Given the description of an element on the screen output the (x, y) to click on. 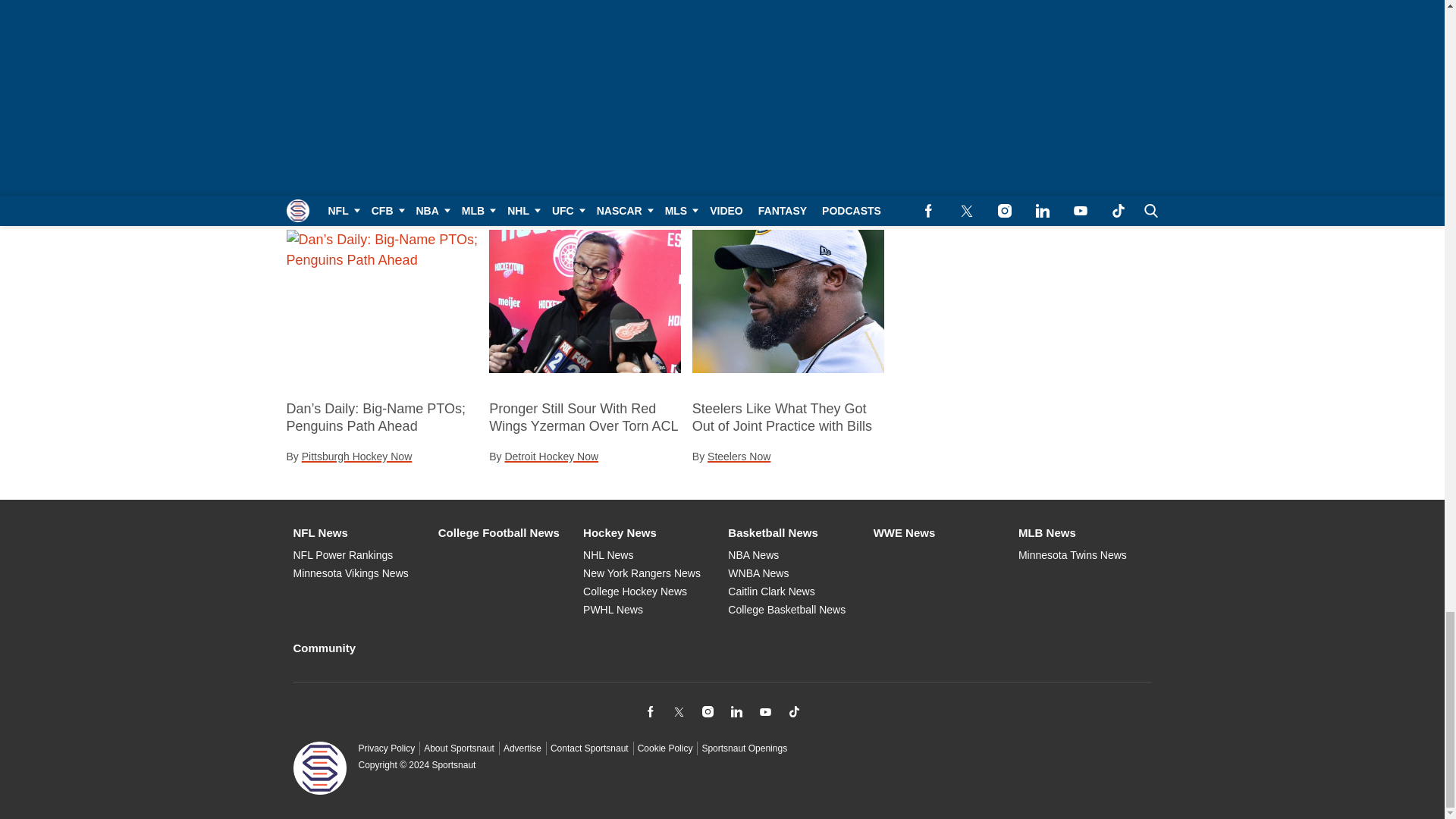
Connect with us on LinkedIn (736, 712)
Connect with us on TikTok (794, 712)
Follow us on Facebook (650, 712)
Follow us on Instagram (707, 712)
Follow us on Twitter (678, 712)
Subscribe to our YouTube channel (765, 712)
